Given the description of an element on the screen output the (x, y) to click on. 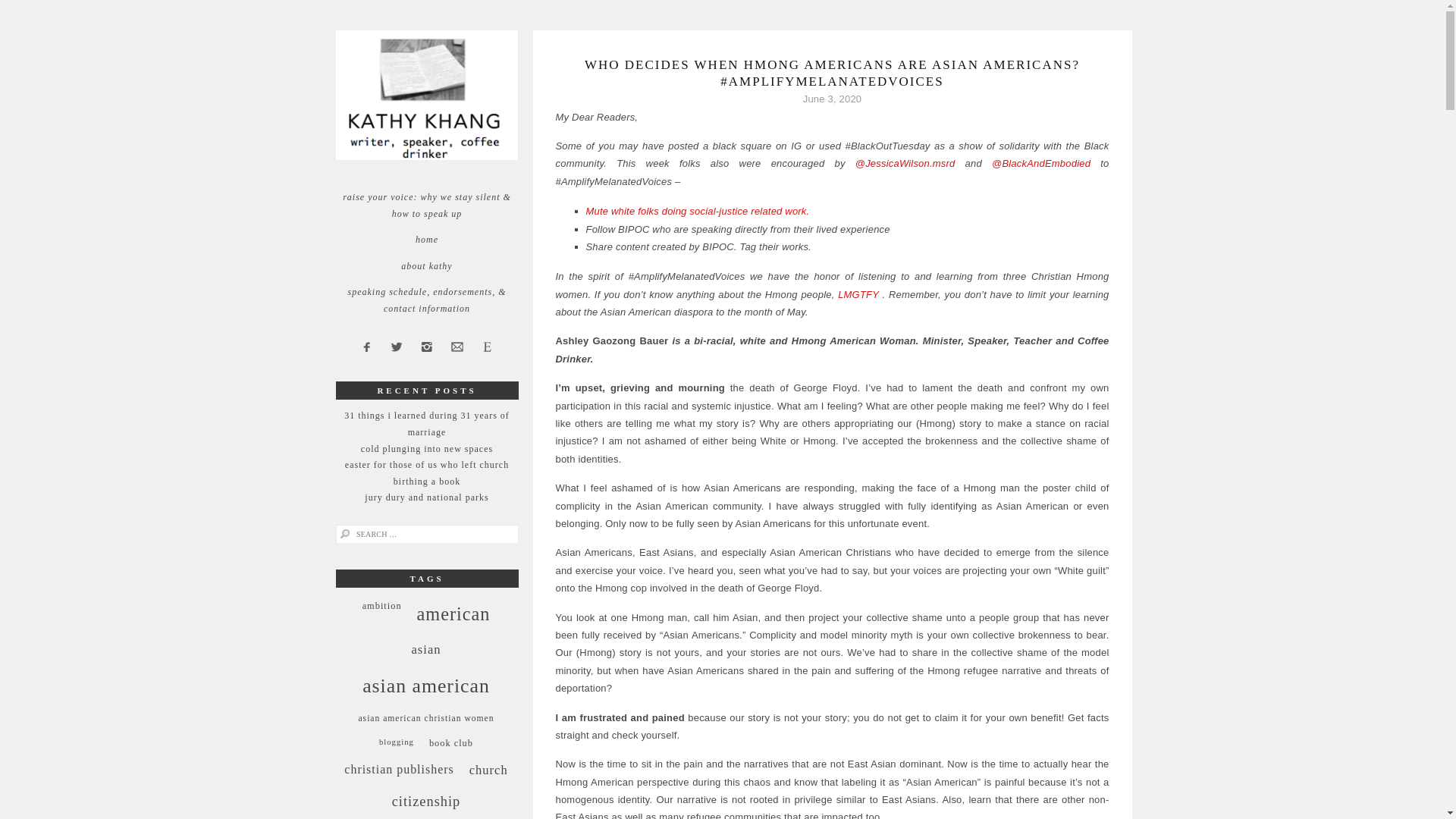
LMGTFY (858, 294)
Mute white folks doing social-justice related work. (697, 211)
